Given the description of an element on the screen output the (x, y) to click on. 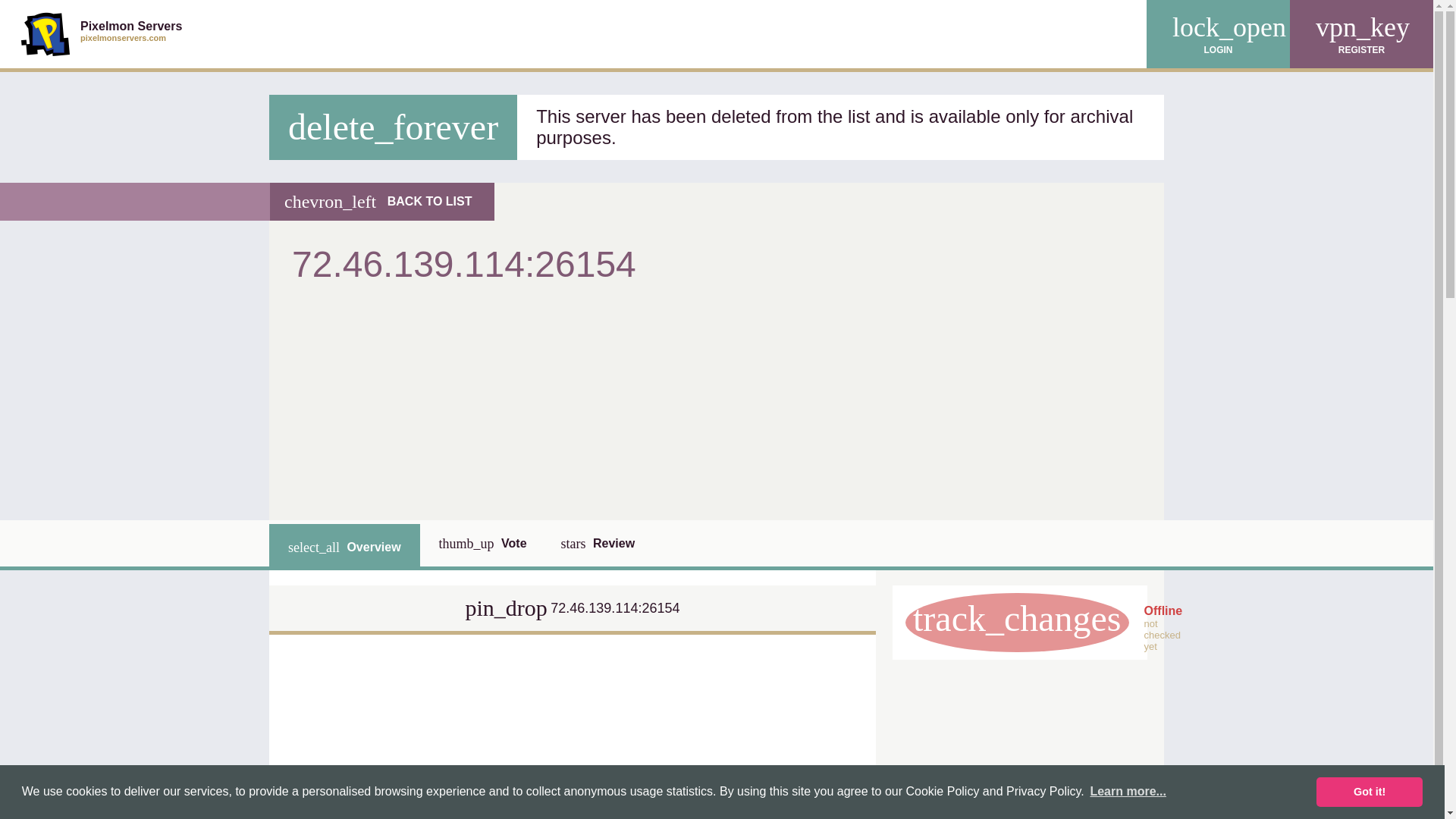
Learn more... (101, 33)
Advertisement (1128, 791)
Got it! (568, 398)
Vote (1369, 791)
stars Review (482, 543)
Overview (598, 543)
Review (344, 547)
Advertisement (598, 543)
Advertisement (1019, 746)
